Given the description of an element on the screen output the (x, y) to click on. 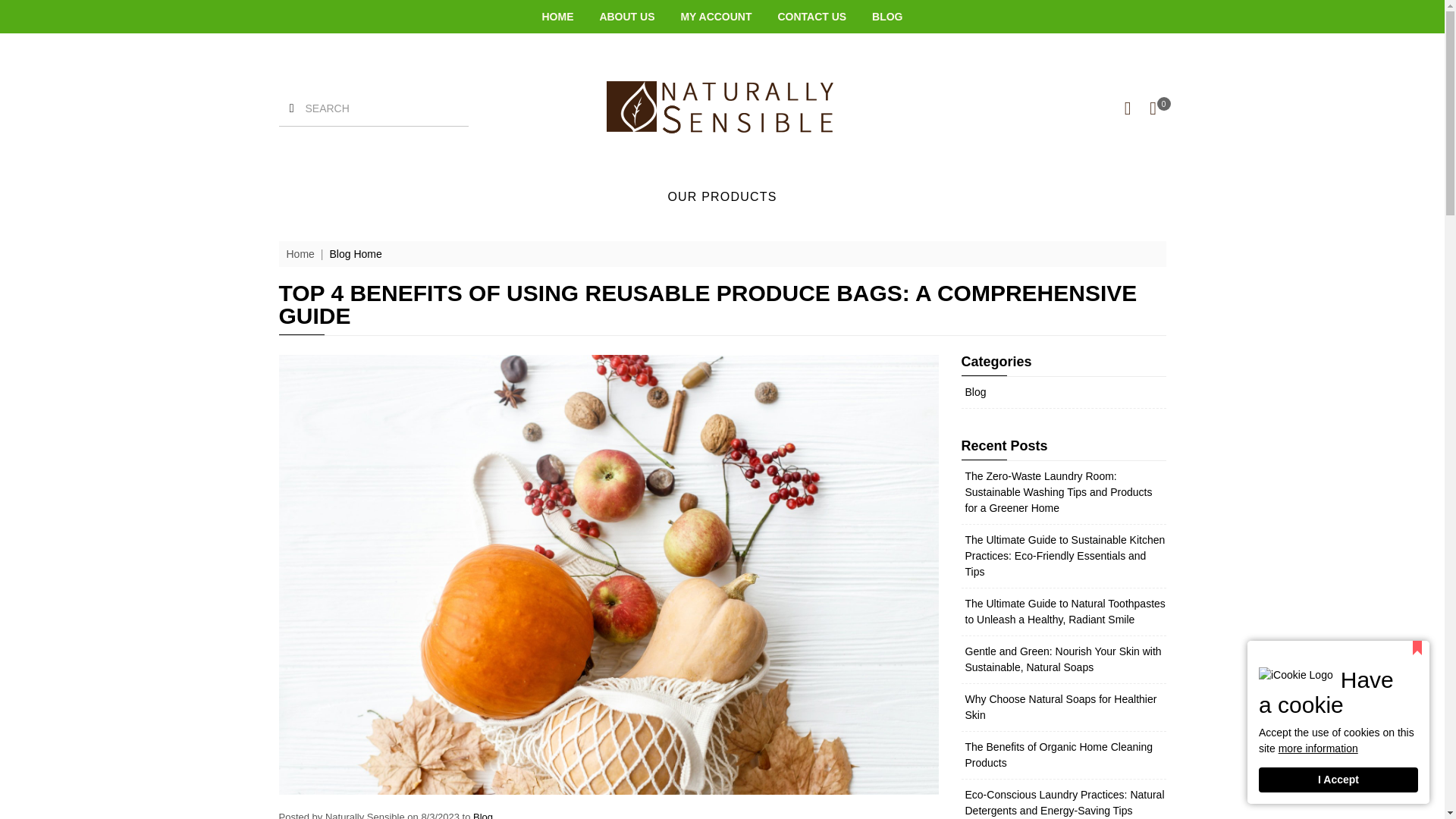
Why Choose Natural Soaps for Healthier Skin (1059, 706)
CONTACT US (811, 16)
Blog (974, 391)
The Benefits of Organic Home Cleaning Products (1057, 755)
OUR PRODUCTS (721, 196)
0 (1153, 108)
BLOG (887, 16)
Home (300, 254)
HOME (557, 16)
MY ACCOUNT (715, 16)
ABOUT US (625, 16)
Blog (483, 815)
